Given the description of an element on the screen output the (x, y) to click on. 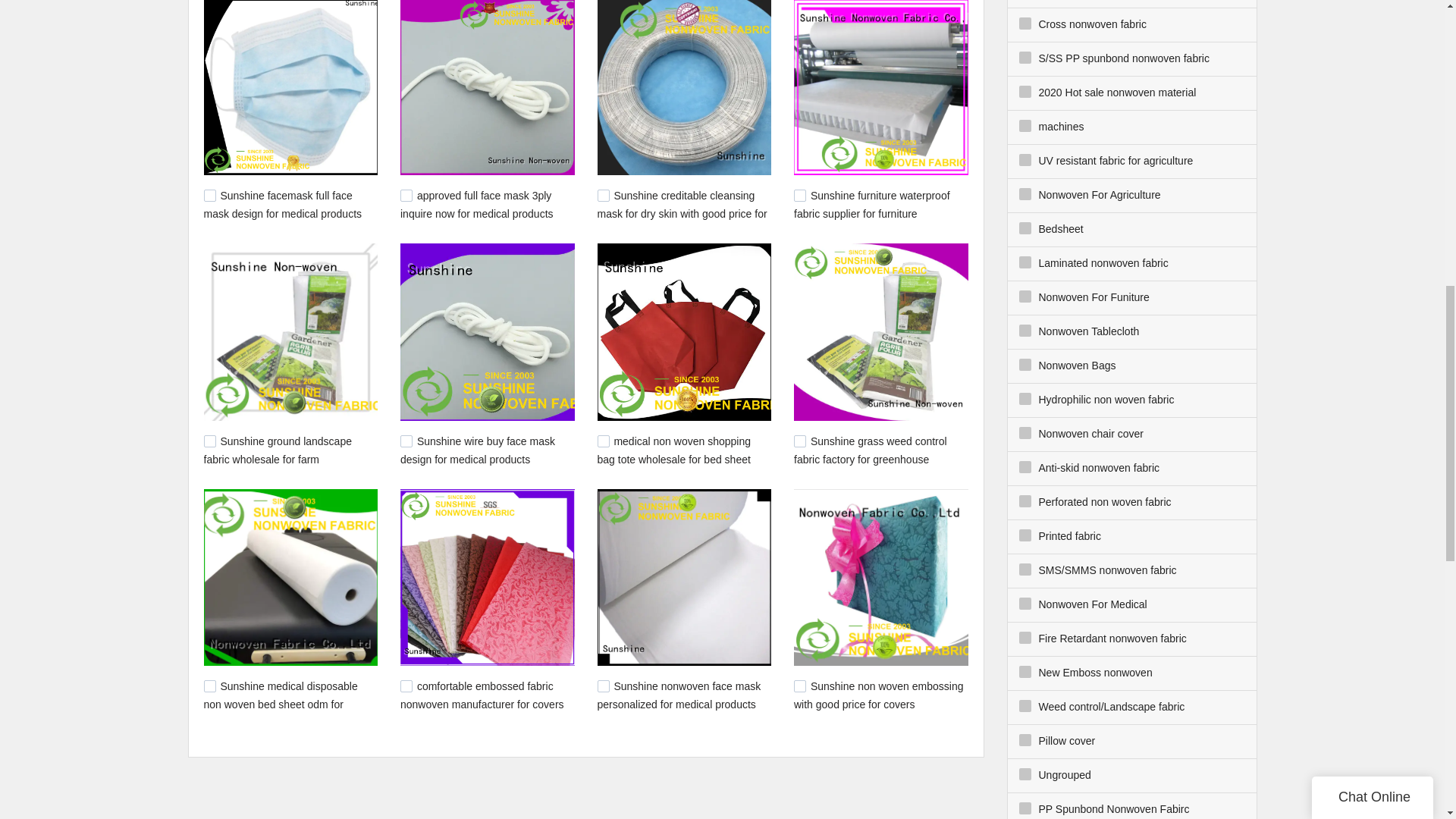
1970 (799, 686)
Sunshine wire buy face mask design for medical products (477, 450)
Sunshine furniture waterproof fabric supplier for furniture (871, 204)
medical non woven shopping bag tote wholesale for bed sheet (673, 450)
3103 (406, 195)
Sunshine facemask full face mask design for medical products (282, 204)
comfortable embossed fabric nonwoven manufacturer for covers (482, 695)
2149 (799, 195)
2941 (603, 195)
Sunshine grass weed control fabric factory for greenhouse (870, 450)
2024 (406, 686)
1980 (603, 686)
